Given the description of an element on the screen output the (x, y) to click on. 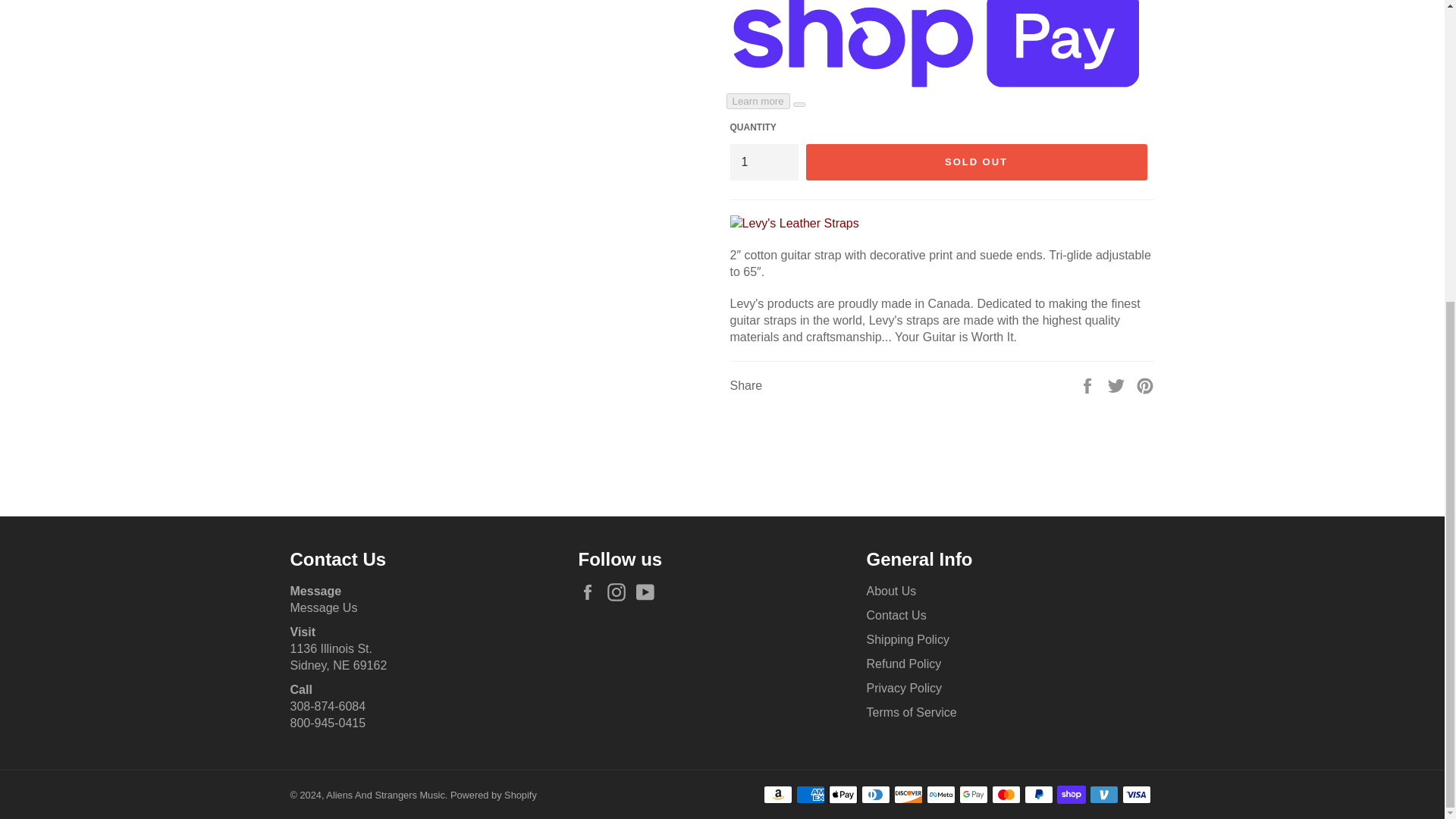
Aliens And Strangers Music on Facebook (591, 592)
Aliens And Strangers Music on YouTube (649, 592)
1 (763, 162)
Message Us (322, 607)
Share on Facebook (1088, 384)
Tweet on Twitter (1117, 384)
Levy's Leathers (794, 223)
Pin on Pinterest (1144, 384)
Aliens And Strangers Music on Instagram (620, 592)
